Given the description of an element on the screen output the (x, y) to click on. 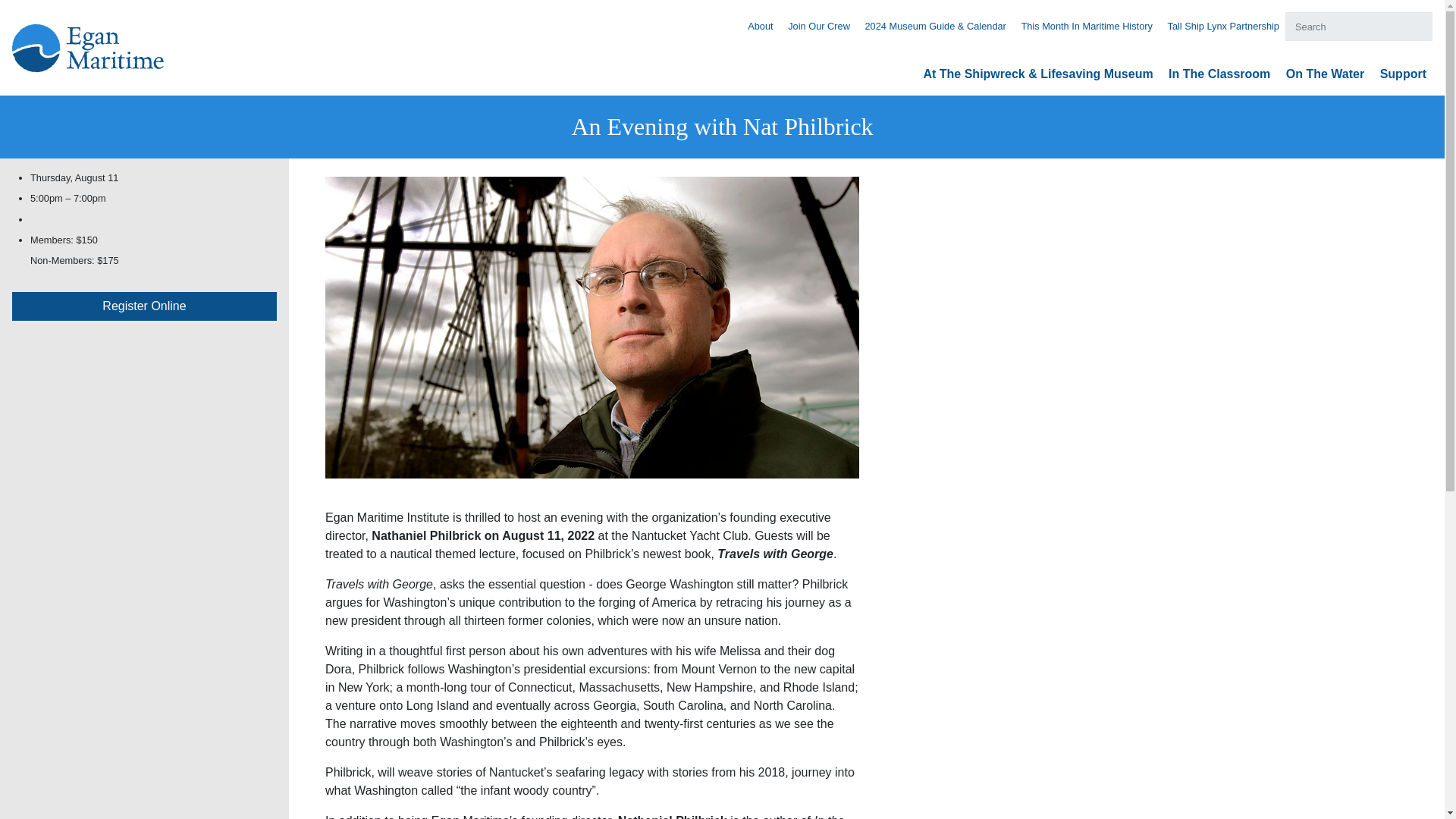
Support (1403, 73)
In The Classroom (1219, 73)
Join Our Crew (818, 25)
About (760, 25)
Register Online (143, 306)
On The Water (1324, 73)
Tall Ship Lynx Partnership (1223, 25)
This Month In Maritime History (1086, 25)
